Given the description of an element on the screen output the (x, y) to click on. 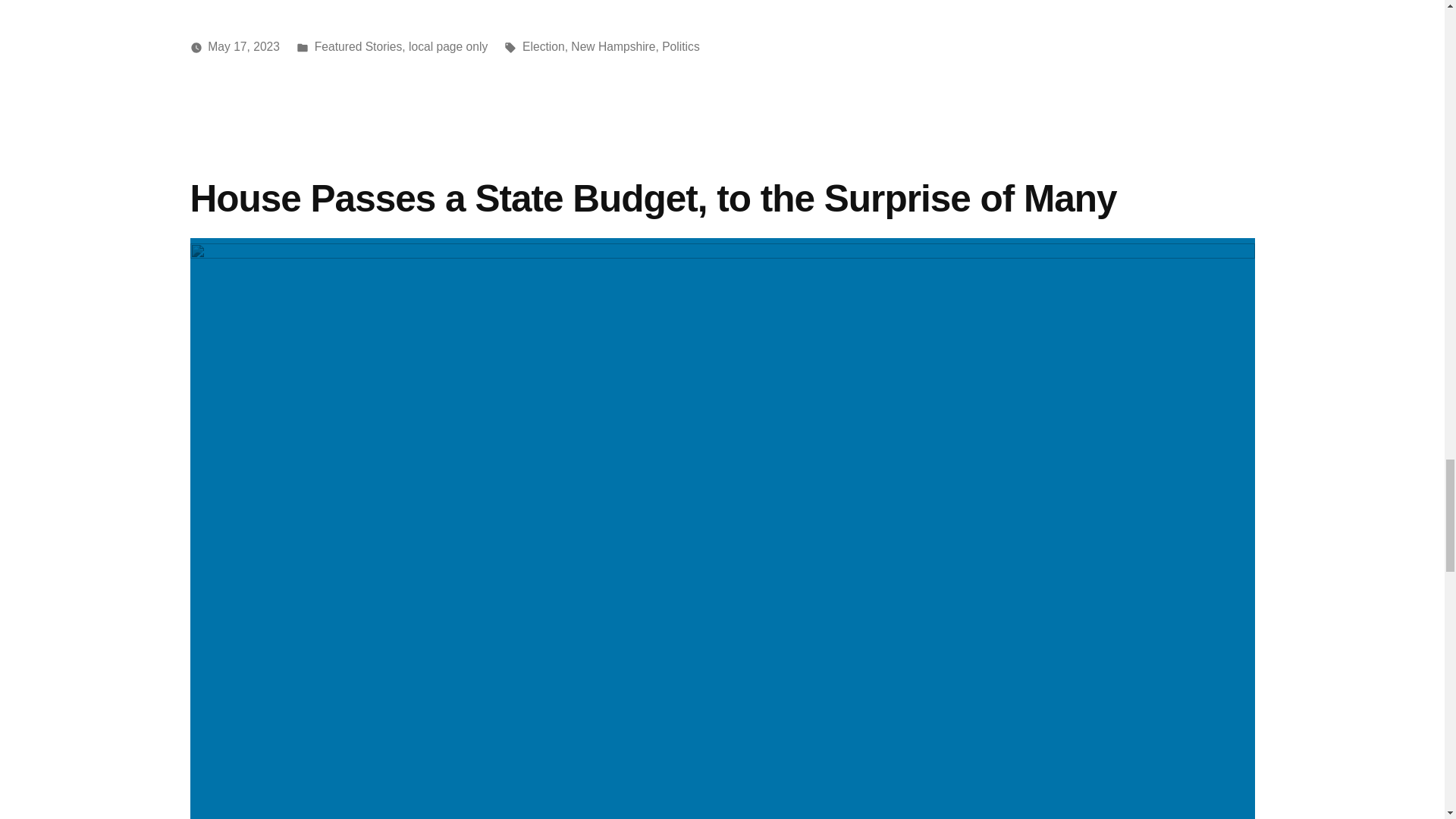
New Hampshire (612, 46)
May 17, 2023 (243, 46)
House Passes a State Budget, to the Surprise of Many (652, 198)
Featured Stories (358, 46)
Politics (681, 46)
local page only (448, 46)
Election (543, 46)
